Given the description of an element on the screen output the (x, y) to click on. 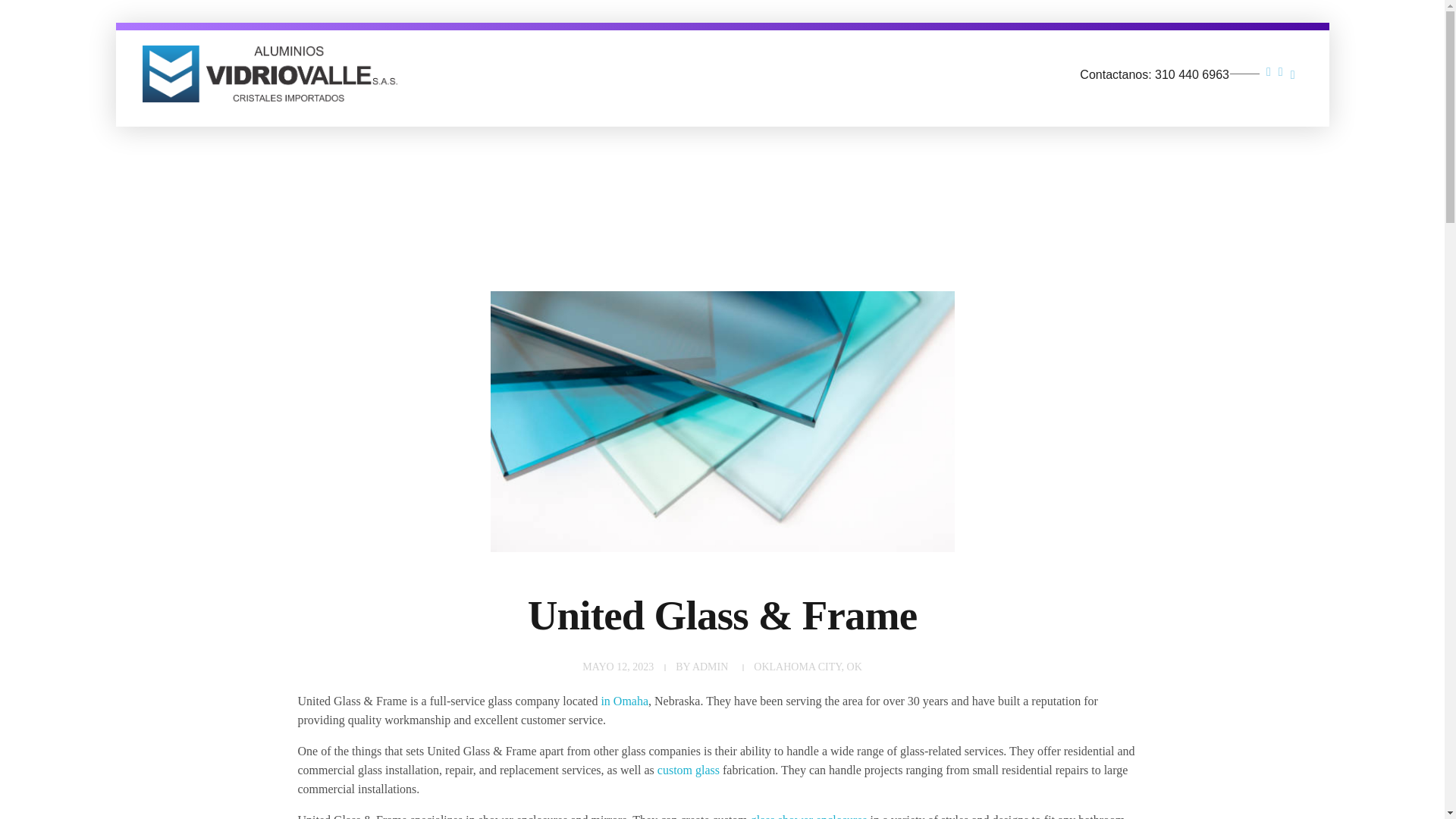
glass shower enclosures (809, 816)
Contactanos: 310 440 6963 (1171, 66)
Aluminios Vidriovalle (233, 76)
View all posts in Oklahoma City, OK (807, 667)
OKLAHOMA CITY, OK (807, 667)
View all posts by admin (710, 666)
Aluminios Vidriovalle (233, 110)
Omaha (629, 700)
custom glass (688, 769)
Aluminios Vidriovalle (269, 73)
